Given the description of an element on the screen output the (x, y) to click on. 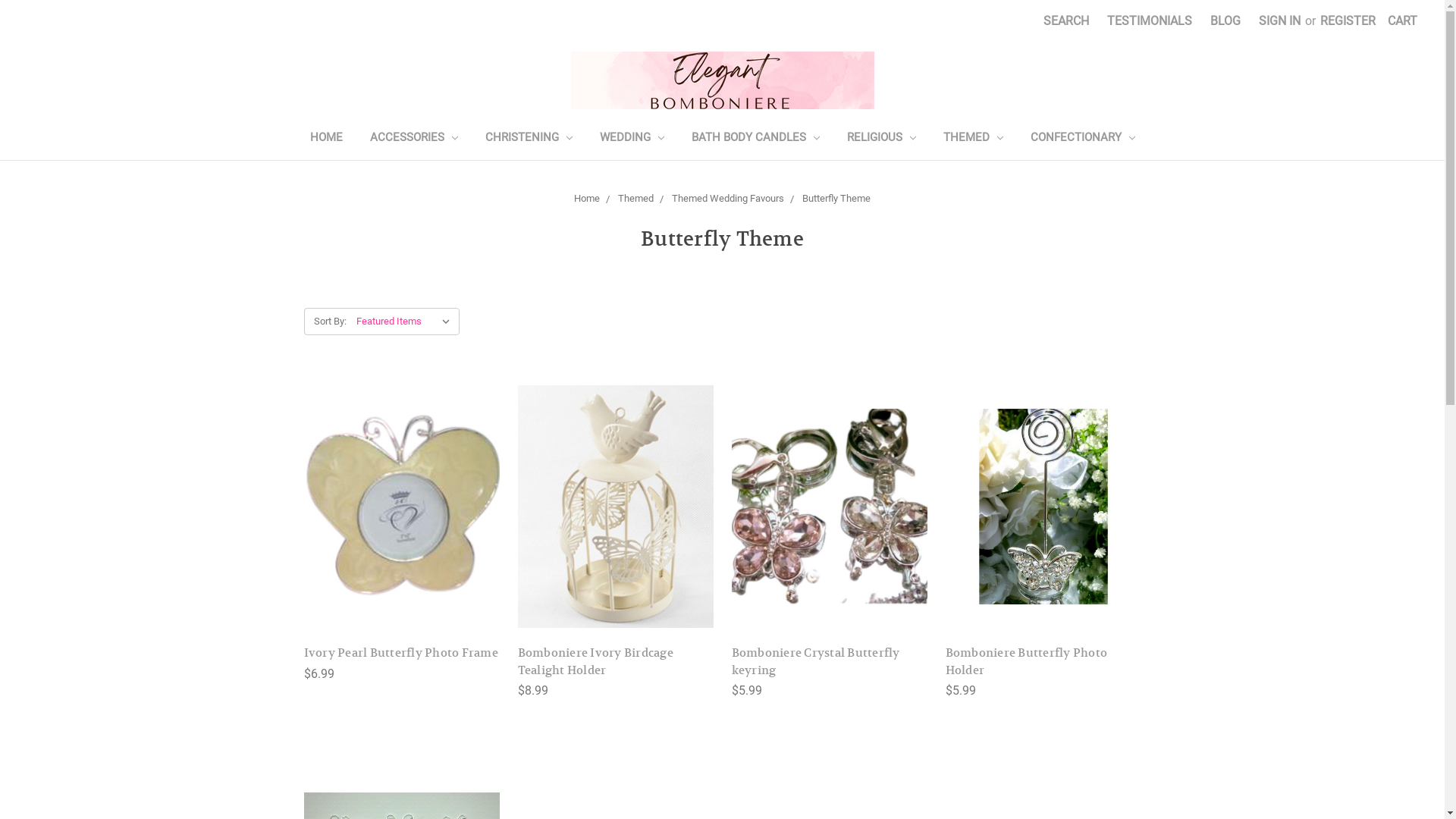
Bomboniere Ivory Birdcage Tealight Holder Element type: text (594, 661)
BLOG Element type: text (1225, 21)
HOME Element type: text (325, 139)
Bomboniere Butterfly Photo Holder Element type: text (1025, 661)
BATH BODY CANDLES Element type: text (755, 139)
Bomboniere Crystal Butterfly keyring Element type: hover (828, 506)
Bomboniere Crystal Butterfly keyring Element type: text (815, 661)
SEARCH Element type: text (1066, 21)
Home Element type: text (586, 197)
SIGN IN Element type: text (1279, 21)
Bomboniere Butterfly Photo Holder Element type: hover (1042, 506)
Themed Wedding Favours Element type: text (727, 197)
ELEGANT BOMBONIERE Element type: hover (721, 80)
REGISTER Element type: text (1347, 21)
Themed Element type: text (635, 197)
WEDDING Element type: text (631, 139)
CART Element type: text (1402, 21)
RELIGIOUS Element type: text (880, 139)
Ivory Pearl Butterfly Photo Frame Element type: text (400, 652)
TESTIMONIALS Element type: text (1149, 21)
Butterfly Theme Element type: text (836, 197)
CONFECTIONARY Element type: text (1082, 139)
THEMED Element type: text (972, 139)
CHRISTENING Element type: text (528, 139)
Bomboniere Ivory Birdcage Tealight Holder Element type: hover (614, 506)
ACCESSORIES Element type: text (413, 139)
Ivory Pearl Butterfly Photo Frame Element type: hover (400, 505)
